Given the description of an element on the screen output the (x, y) to click on. 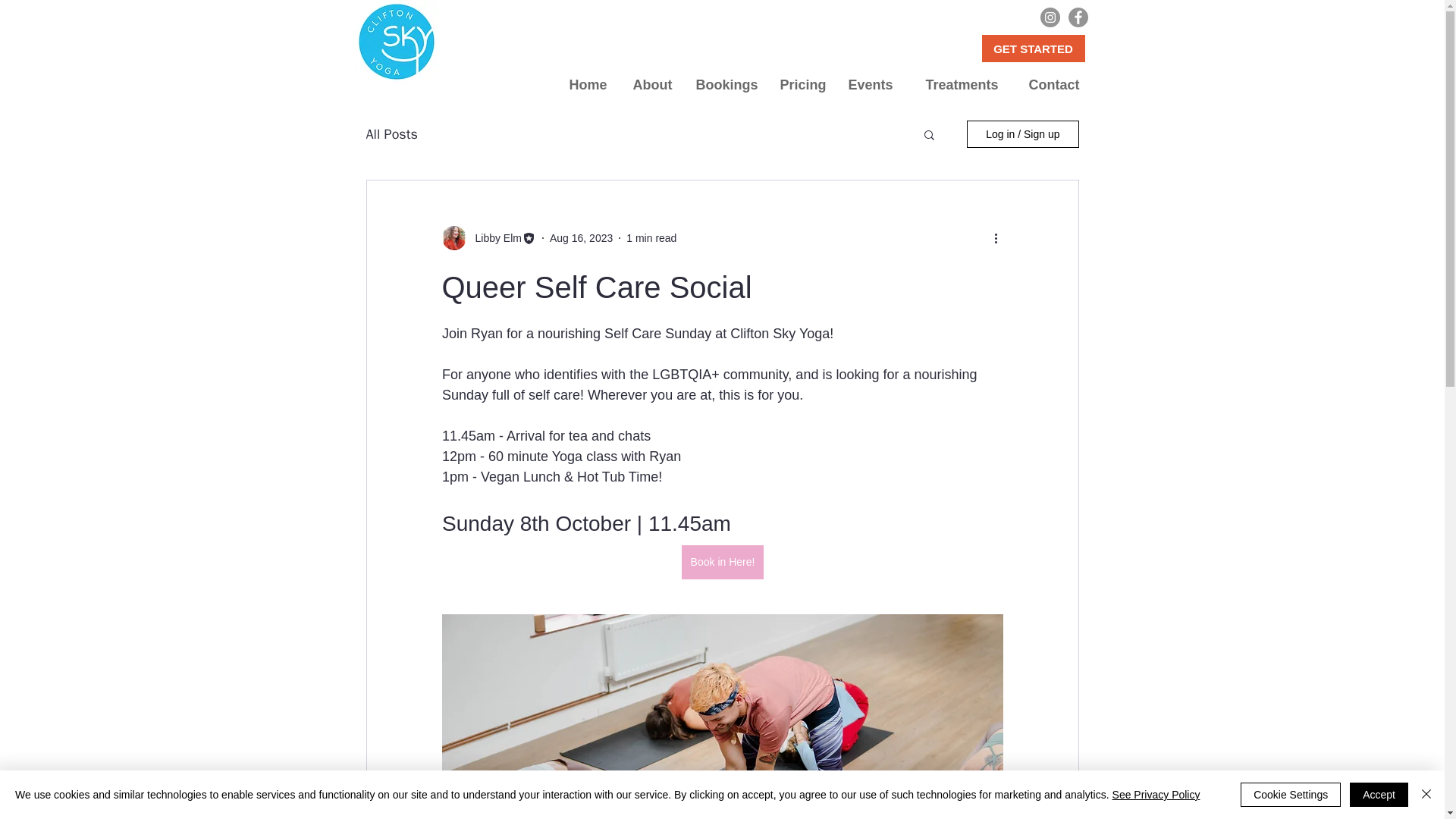
About (651, 84)
Libby Elm (493, 238)
Pricing (801, 84)
Bookings (726, 84)
1 min read (651, 237)
Accept (1378, 794)
Events (869, 84)
GET STARTED (1032, 48)
Home (585, 84)
Contact (1050, 84)
Treatments (956, 84)
Aug 16, 2023 (581, 237)
All Posts (390, 134)
See Privacy Policy (1155, 794)
Book in Here! (721, 562)
